Given the description of an element on the screen output the (x, y) to click on. 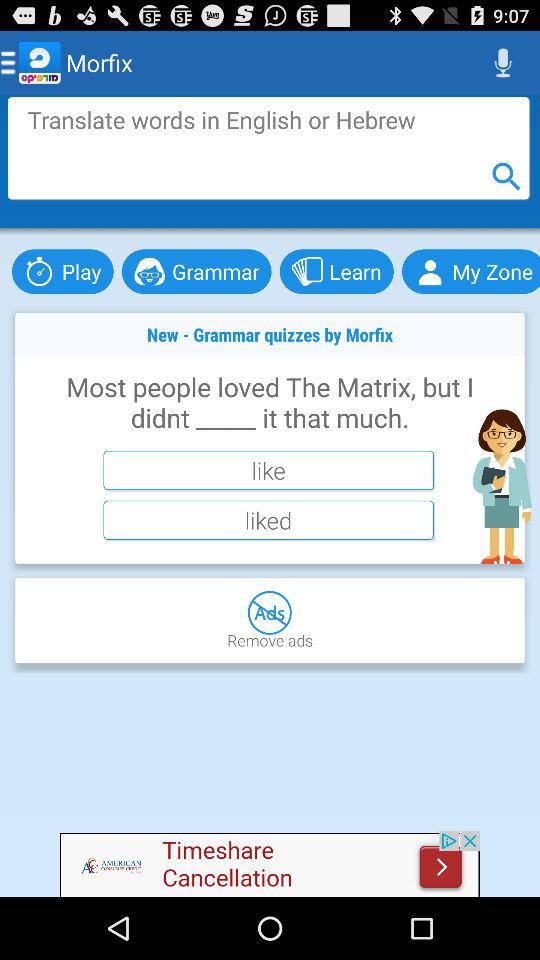
link to advertisement (270, 864)
